Given the description of an element on the screen output the (x, y) to click on. 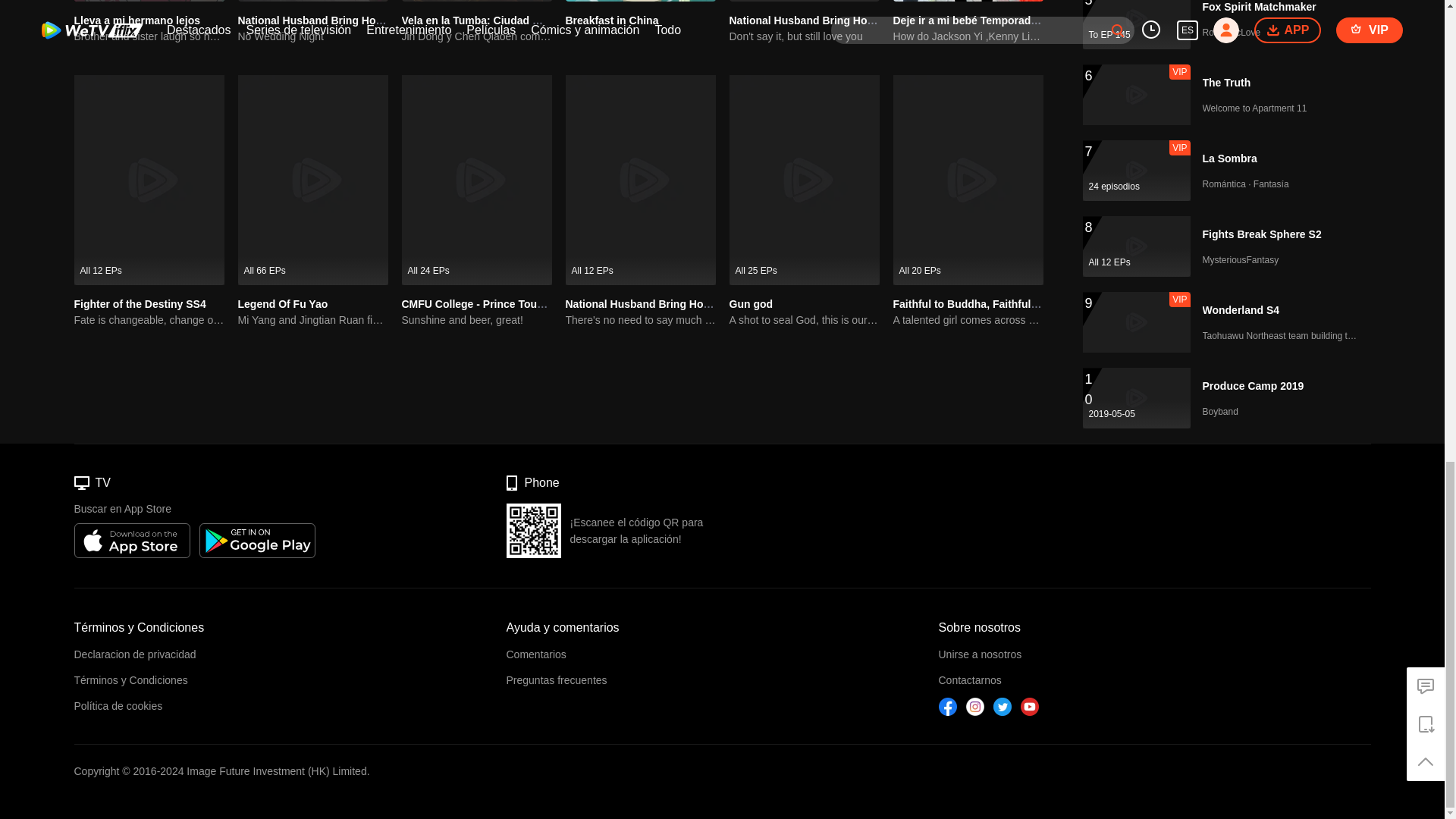
Vela en la Tumba: Ciudad Misteriosa (493, 20)
Brother and sister laugh so hard everyday. (149, 36)
Lleva a mi hermano lejos (137, 20)
National Husband Bring Home SS2 (817, 20)
No Wedding Night (313, 36)
Jin Dong y Chen Qiaoen comienzaron una aventura (476, 36)
Fighter of the Destiny SS4 (140, 304)
Breakfast in China (612, 20)
Don't say it, but still love you (804, 36)
